Given the description of an element on the screen output the (x, y) to click on. 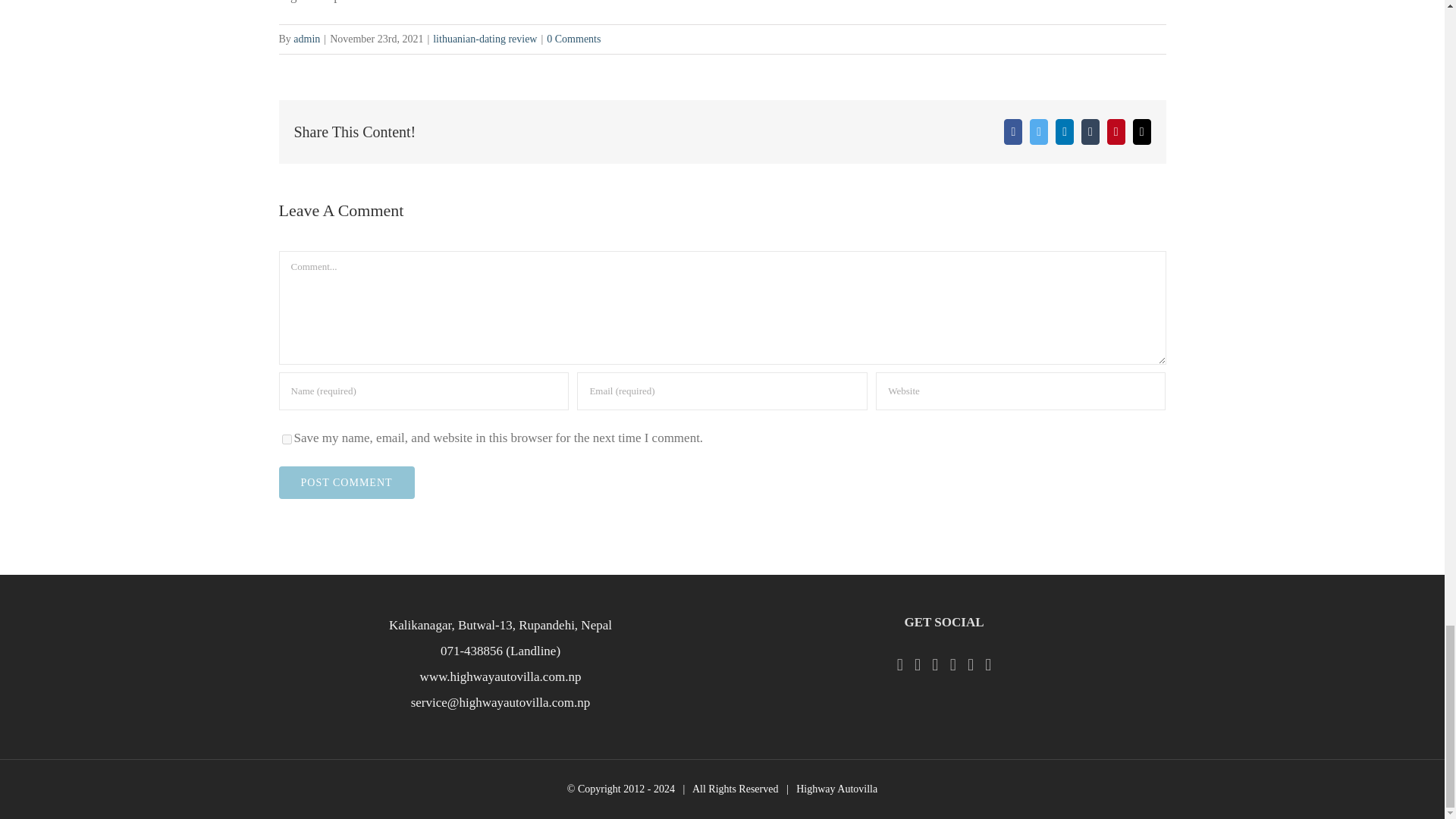
yes (287, 439)
LinkedIn (1064, 131)
Post Comment (346, 482)
Twitter (1038, 131)
Posts by admin (307, 39)
admin (307, 39)
0 Comments (573, 39)
lithuanian-dating review (484, 39)
Pinterest (1115, 131)
Email (1141, 131)
Facebook (1013, 131)
Tumblr (1090, 131)
Post Comment (346, 482)
